Given the description of an element on the screen output the (x, y) to click on. 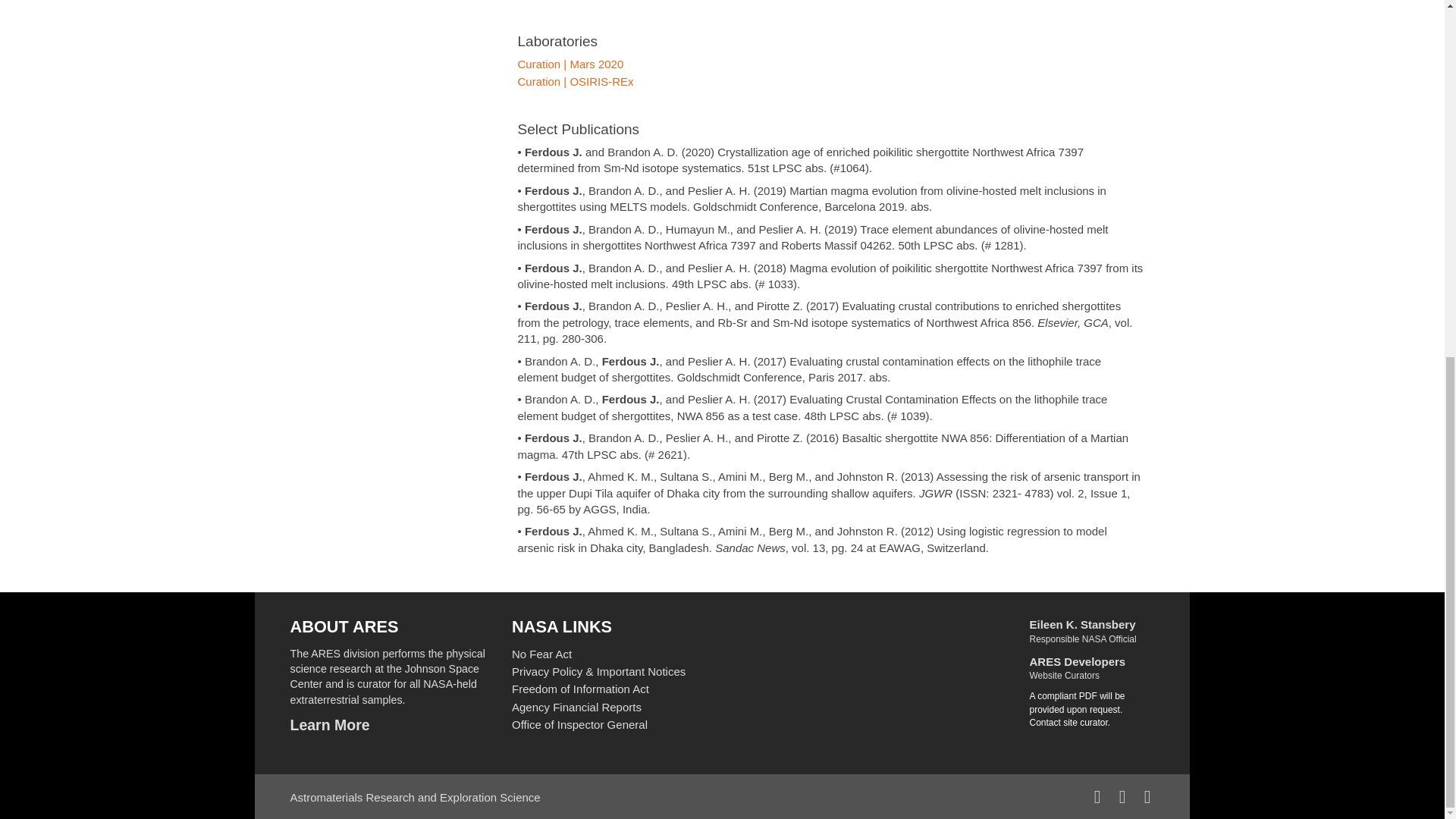
Follow NASA Astromaterials on Facebook (1097, 795)
Follow NASA Astromaterials on Instagram (1147, 795)
Follow NASA Astromaterials on Twitter (1122, 795)
